Given the description of an element on the screen output the (x, y) to click on. 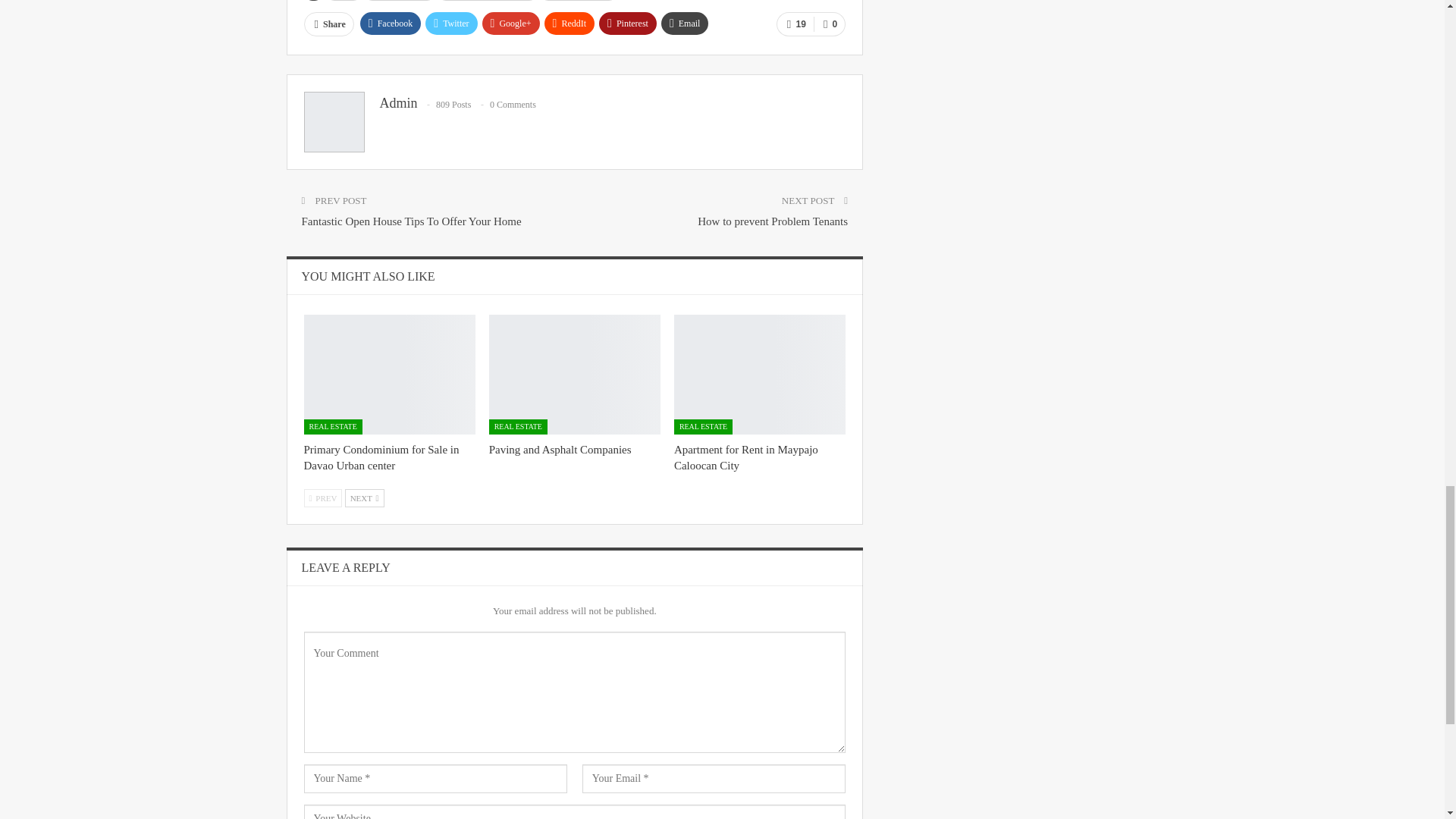
Primary Condominium for Sale in Davao Urban center (380, 457)
Apartment for Rent in Maypajo Caloocan City (759, 374)
Apartment for Rent in Maypajo Caloocan City (746, 457)
Paving and Asphalt Companies (560, 449)
Primary Condominium for Sale in Davao Urban center (388, 374)
Paving and Asphalt Companies (575, 374)
